Given the description of an element on the screen output the (x, y) to click on. 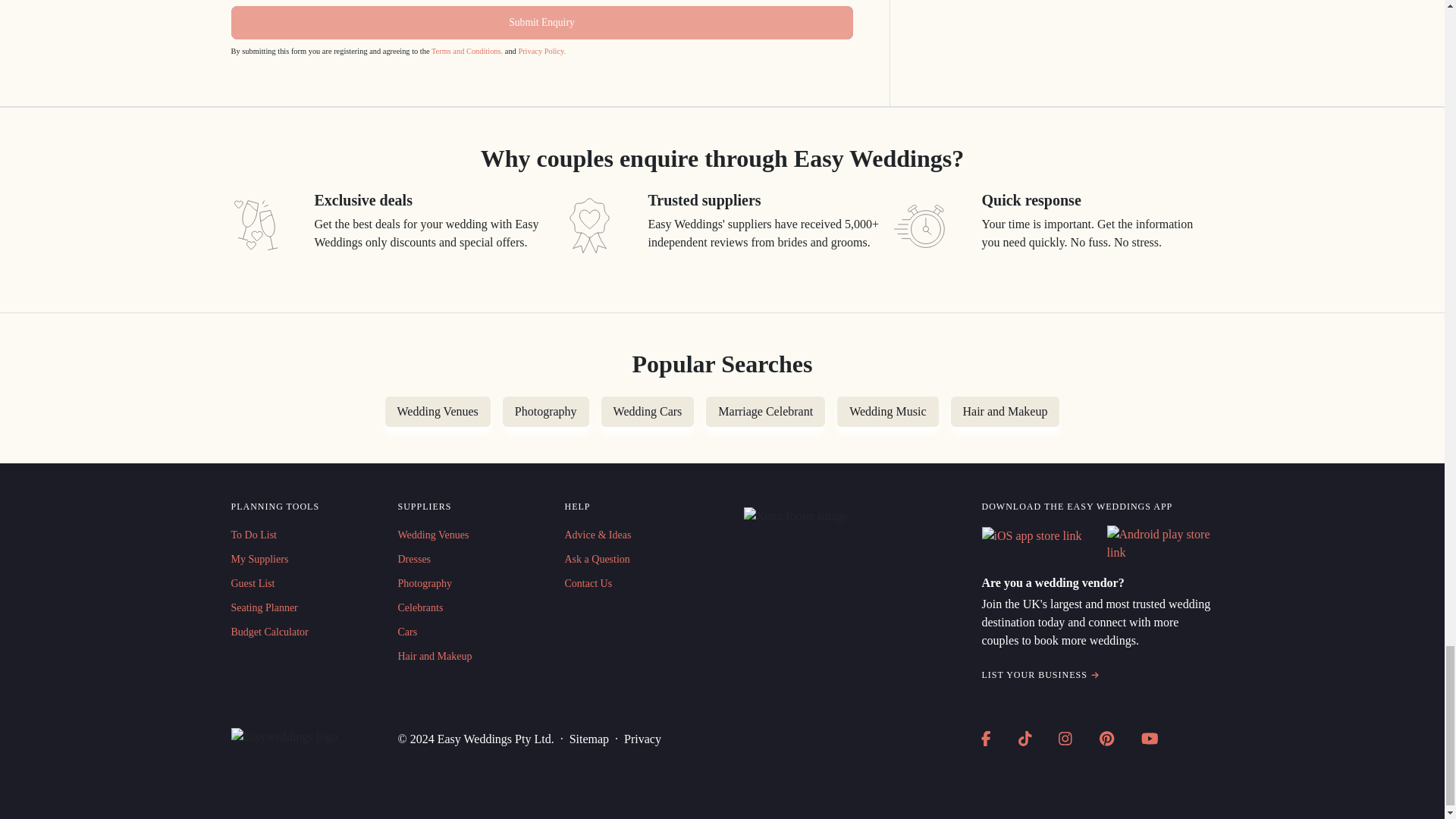
giveaway (588, 224)
Submit Enquiry (540, 22)
Android play store link (1160, 543)
Exclusive deals (255, 224)
iOS app store link (1031, 536)
Quick response (922, 224)
